Given the description of an element on the screen output the (x, y) to click on. 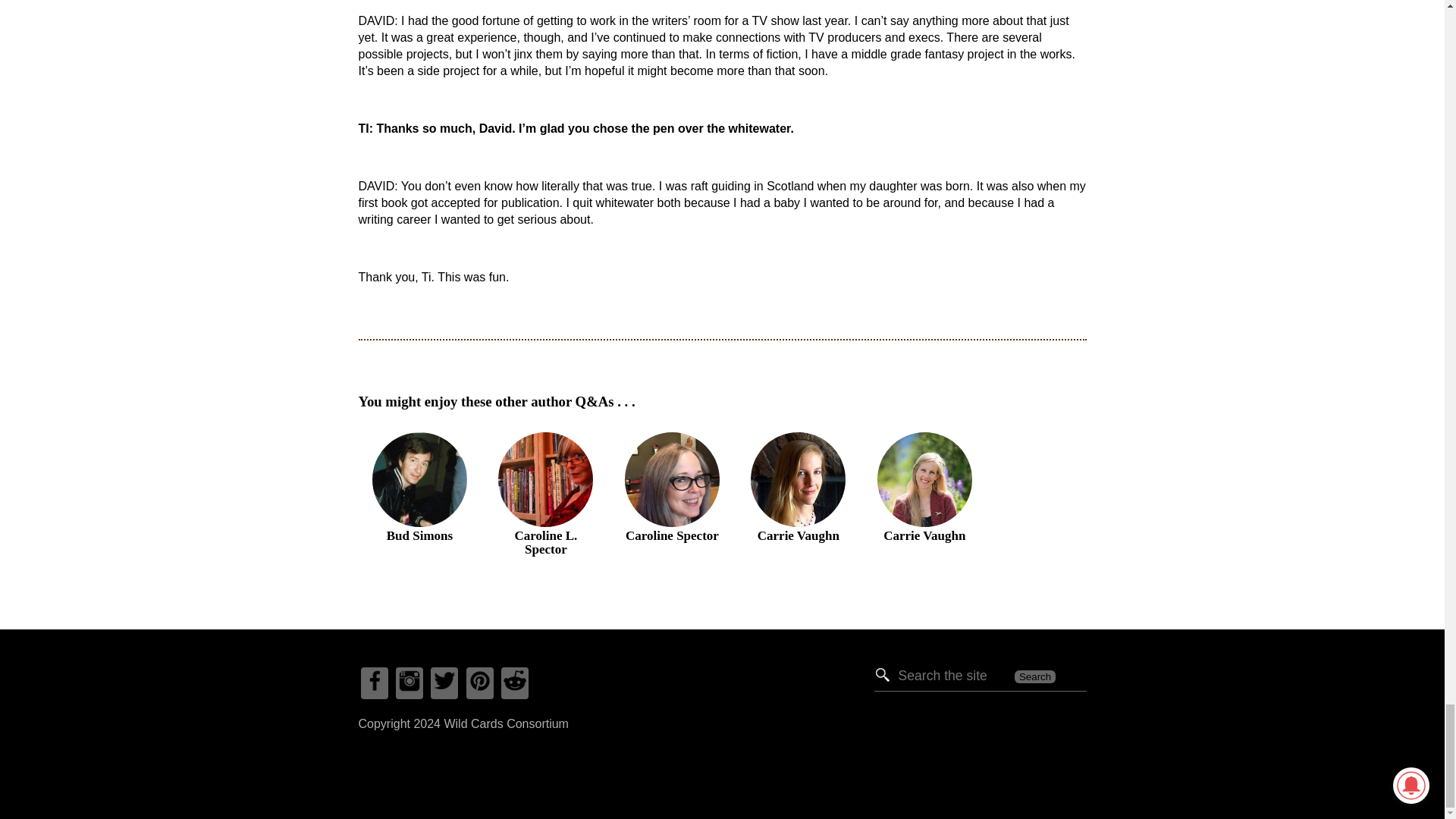
Carrie Vaughn (924, 431)
Caroline L. Spector (547, 431)
Bud Simons (420, 431)
Carrie Vaughn (799, 431)
Caroline Spector (673, 431)
